Given the description of an element on the screen output the (x, y) to click on. 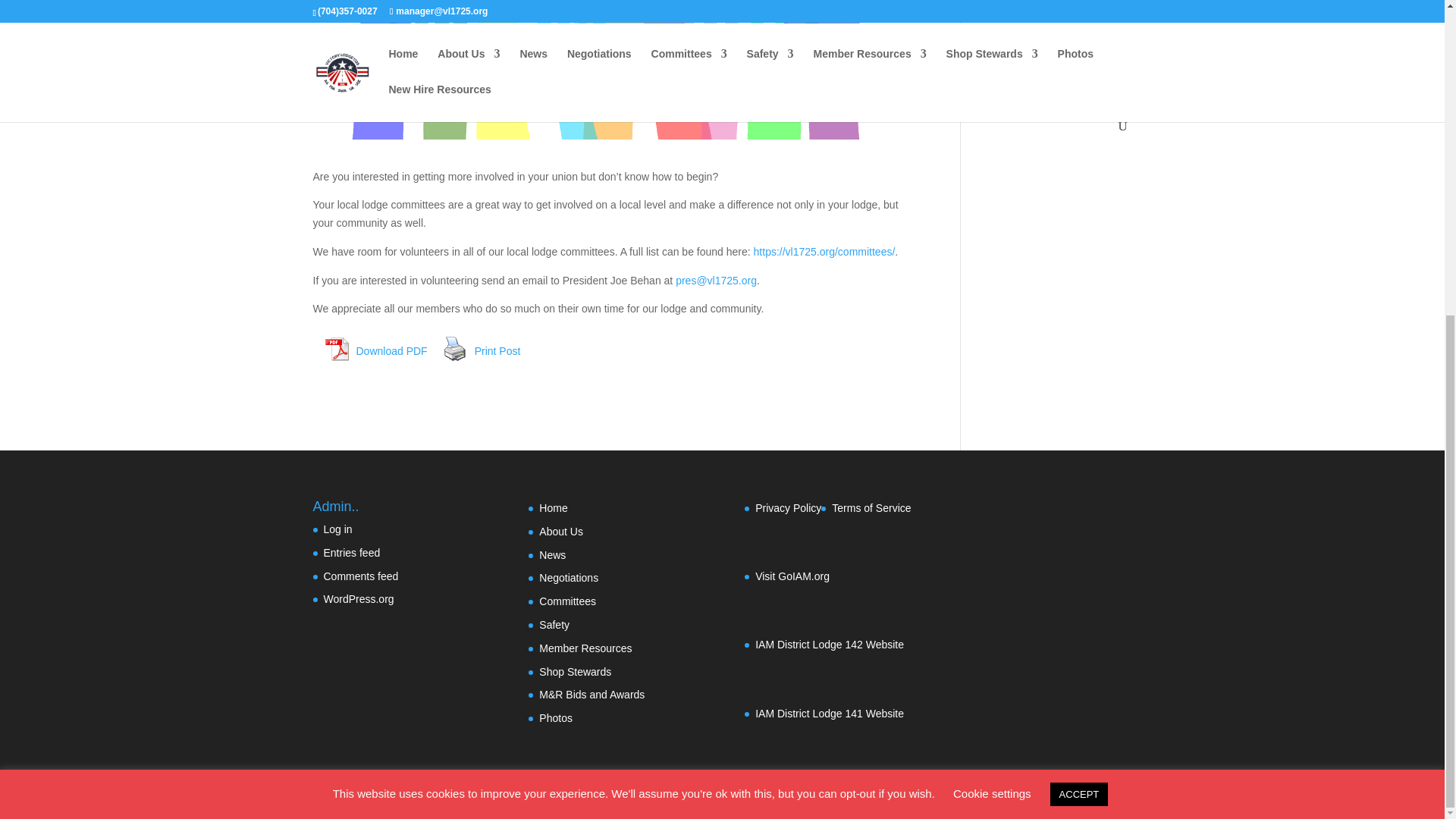
Premium WordPress Themes (414, 797)
Download PDF (336, 348)
Print Content (454, 348)
